Given the description of an element on the screen output the (x, y) to click on. 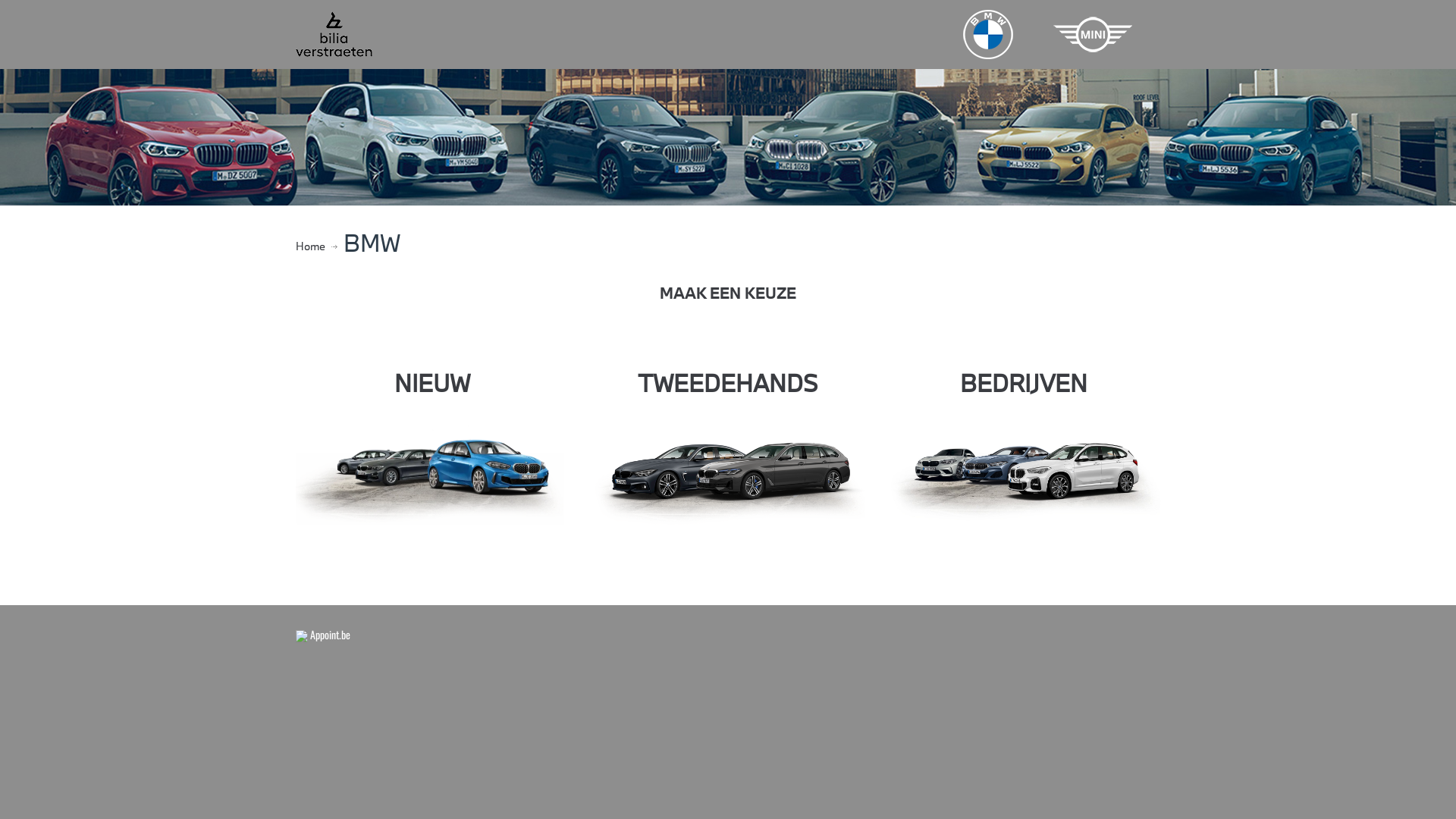
NIEUW Element type: text (432, 382)
Home Element type: text (310, 246)
TWEEDEHANDS Element type: text (727, 382)
used Element type: hover (727, 467)
corporate Element type: hover (1023, 467)
BEDRIJVEN Element type: text (1023, 382)
 Appoint.be Element type: text (322, 634)
2020-06-04 16_11_30-Alle modellen _ BMW.be Element type: hover (431, 467)
